Given the description of an element on the screen output the (x, y) to click on. 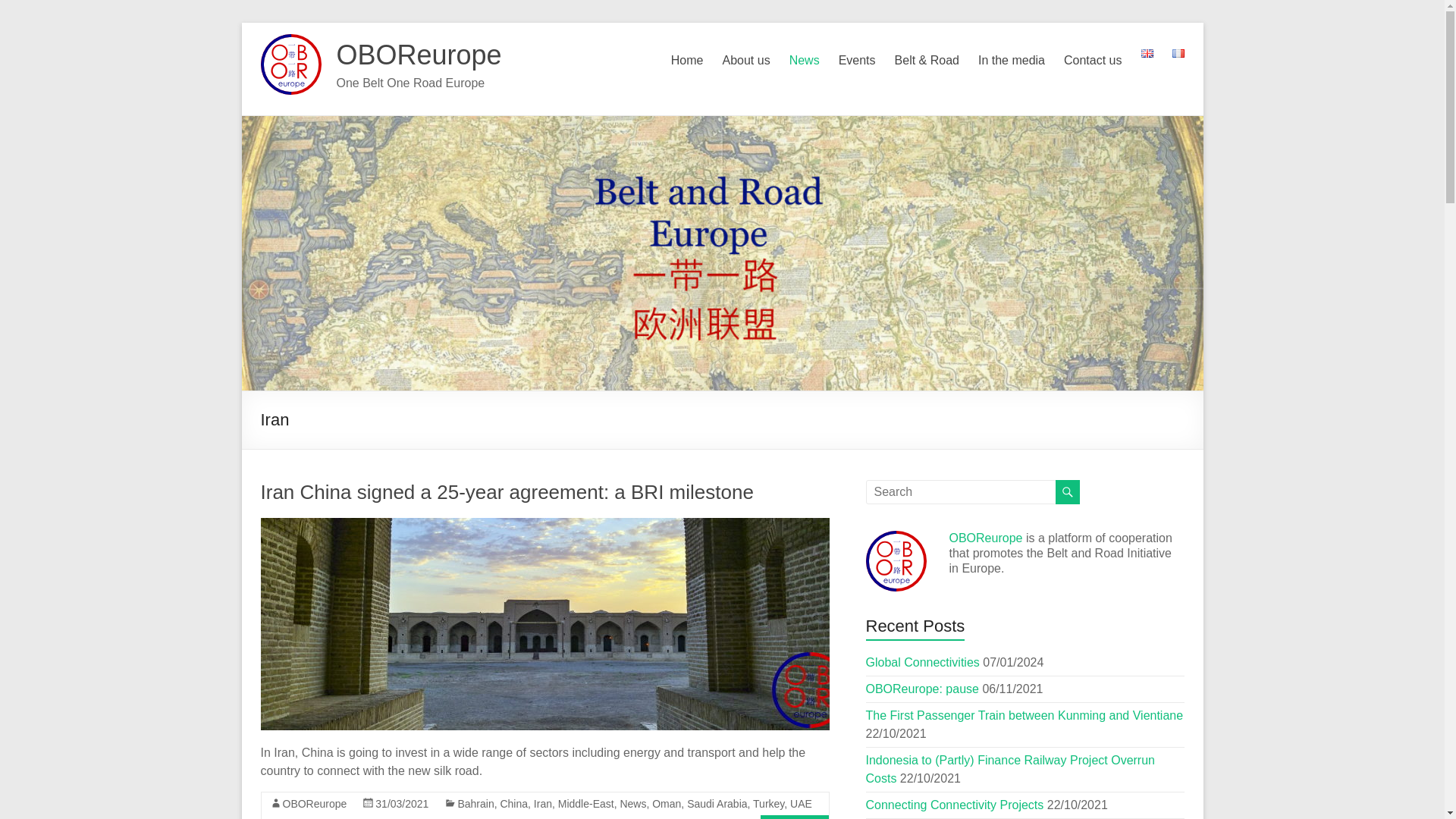
Iran China signed a 25-year agreement: a BRI milestone (544, 623)
16:51 (401, 803)
OBOReurope (419, 54)
Iran China signed a 25-year agreement: a BRI milestone (507, 491)
News (804, 60)
About us (746, 60)
OBOReurope (419, 54)
Iran China signed a 25-year agreement: a BRI milestone (544, 524)
Home (687, 60)
